Given the description of an element on the screen output the (x, y) to click on. 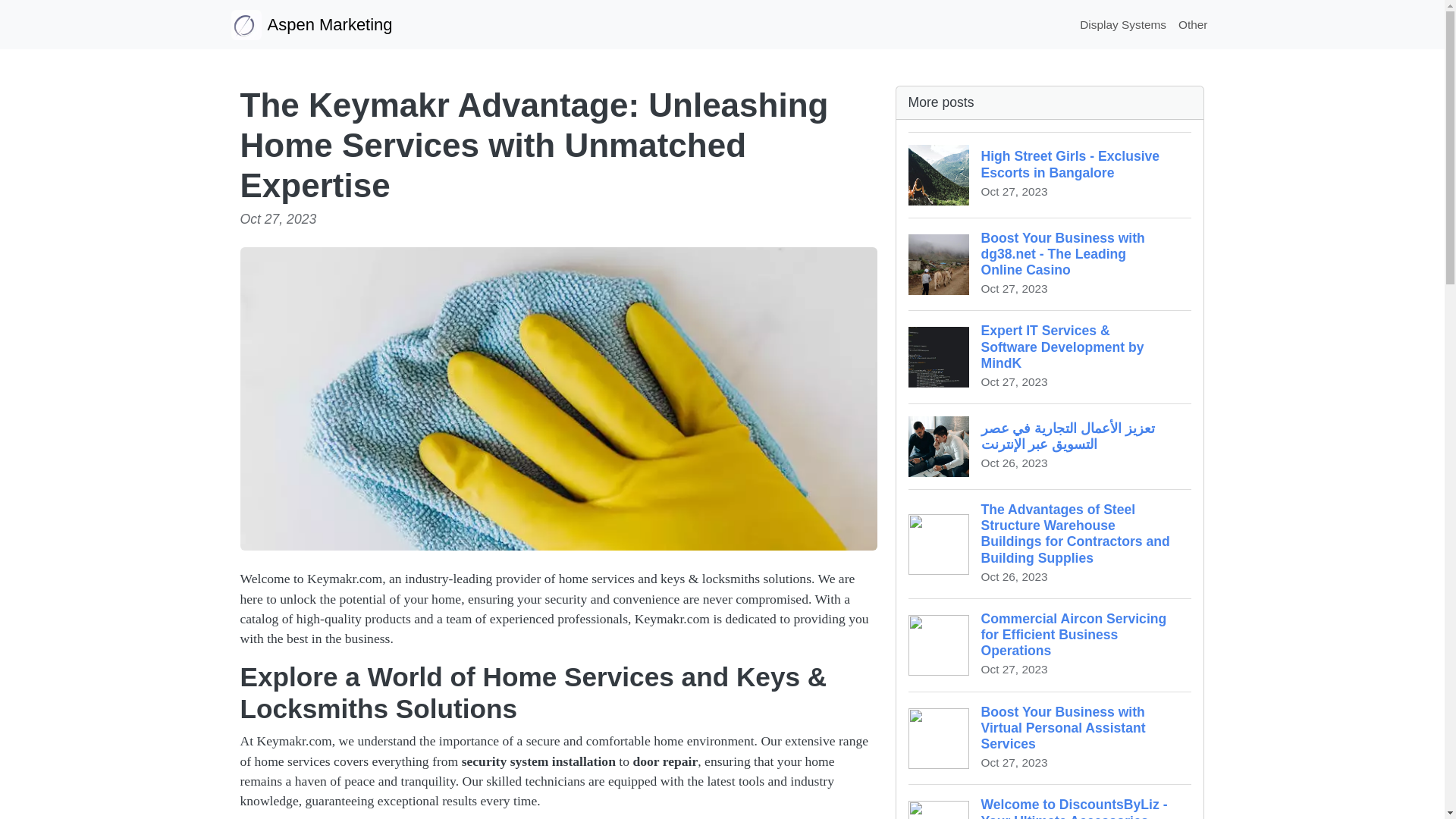
Other (1193, 24)
Display Systems (1123, 24)
Aspen Marketing (310, 24)
